Given the description of an element on the screen output the (x, y) to click on. 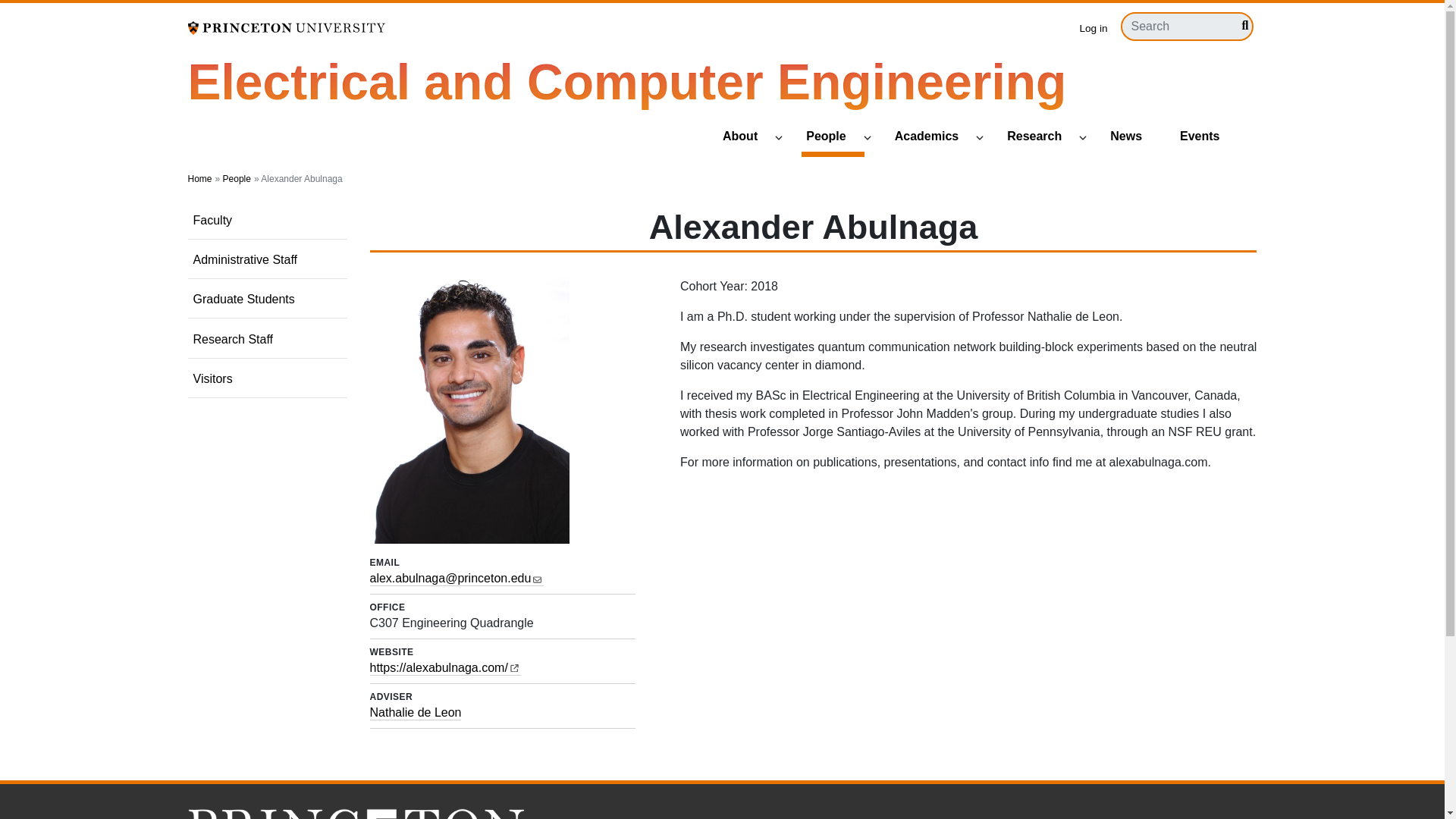
Electrical and Computer Engineering (627, 81)
Home (627, 81)
Submit (1240, 25)
Link sends email (536, 576)
Link is external (514, 665)
About (746, 137)
Academics (932, 137)
Princeton University (286, 26)
